Given the description of an element on the screen output the (x, y) to click on. 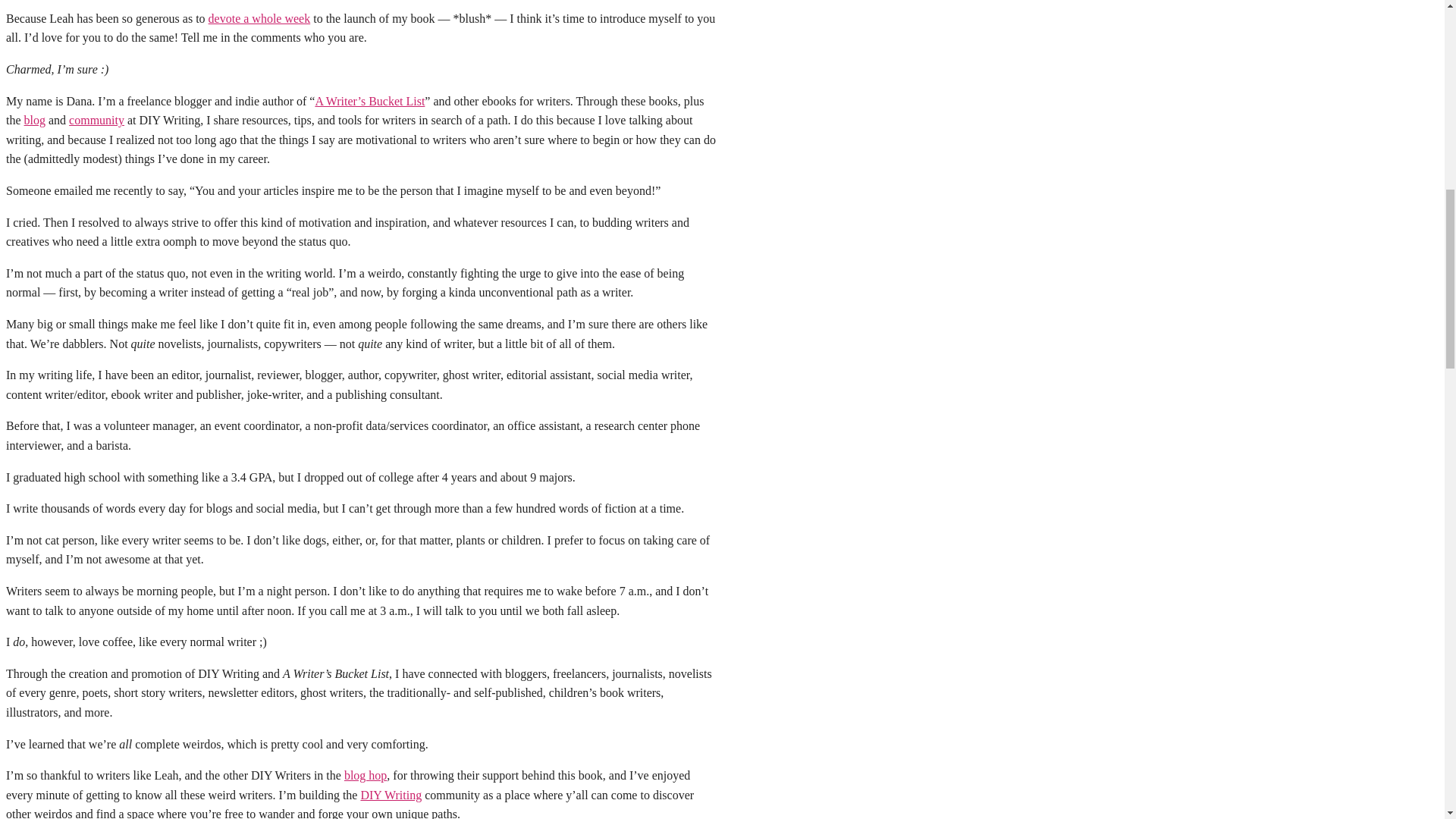
devote a whole week (259, 18)
DIY Writing (390, 794)
community (95, 119)
blog hop (365, 775)
blog (34, 119)
